Given the description of an element on the screen output the (x, y) to click on. 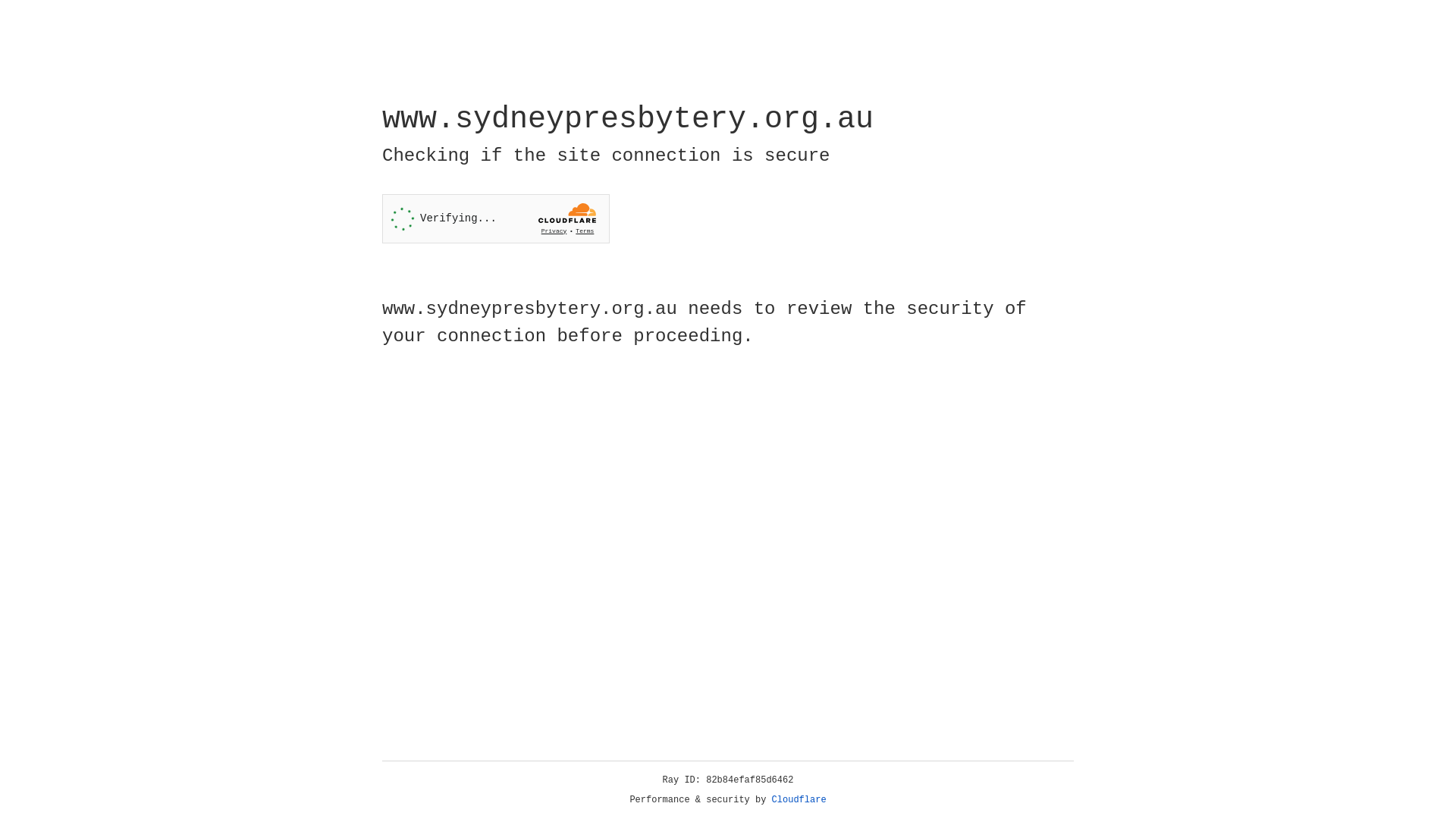
Cloudflare Element type: text (798, 799)
Widget containing a Cloudflare security challenge Element type: hover (495, 218)
